Given the description of an element on the screen output the (x, y) to click on. 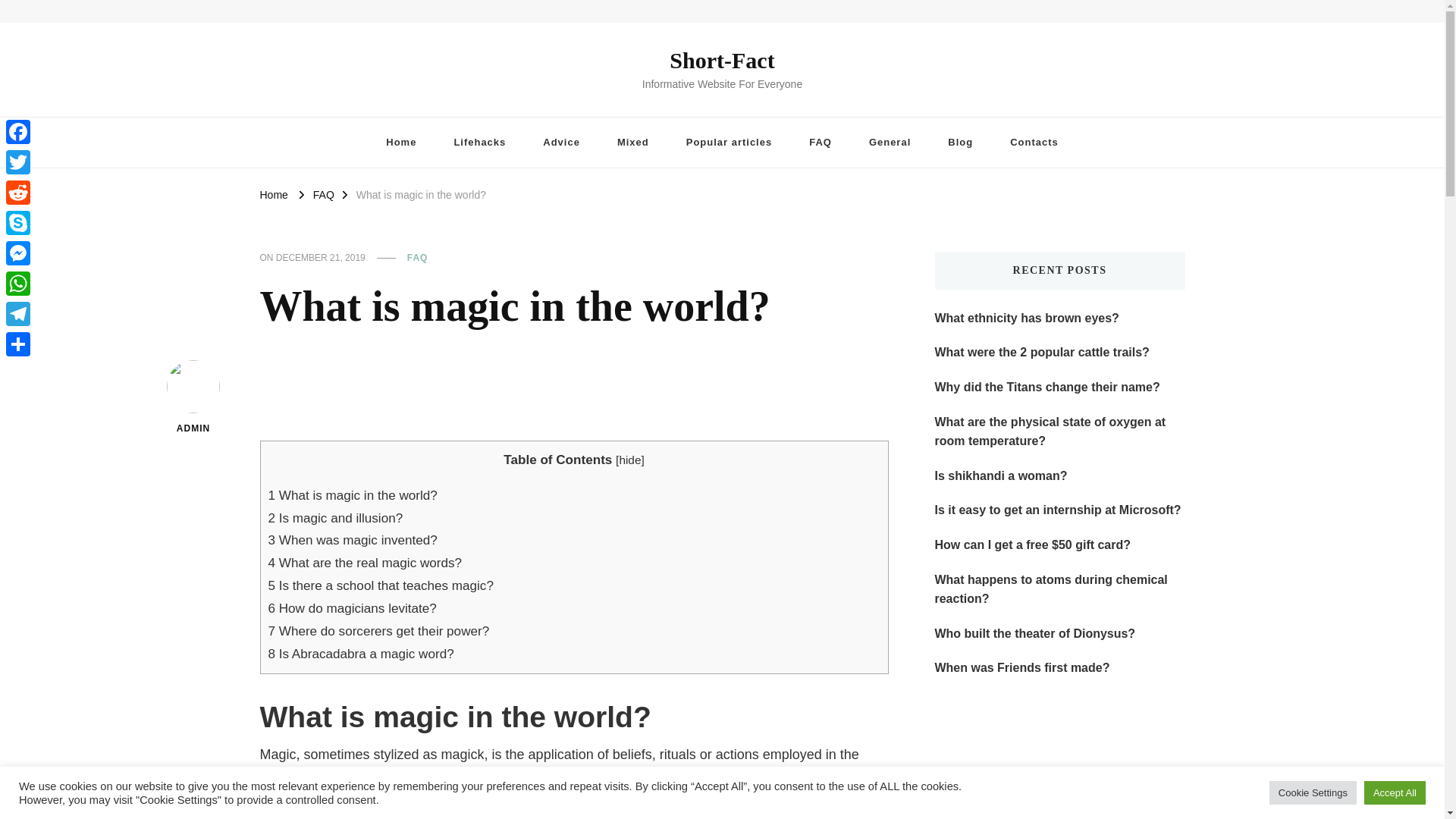
Twitter (17, 162)
FAQ (417, 258)
FAQ (323, 193)
3 When was magic invented? (352, 540)
1 What is magic in the world? (352, 495)
Skype (17, 223)
Home (272, 193)
Mixed (632, 142)
6 How do magicians levitate? (351, 608)
General (889, 142)
Lifehacks (479, 142)
FAQ (820, 142)
DECEMBER 21, 2019 (320, 258)
hide (629, 459)
7 Where do sorcerers get their power? (378, 631)
